Given the description of an element on the screen output the (x, y) to click on. 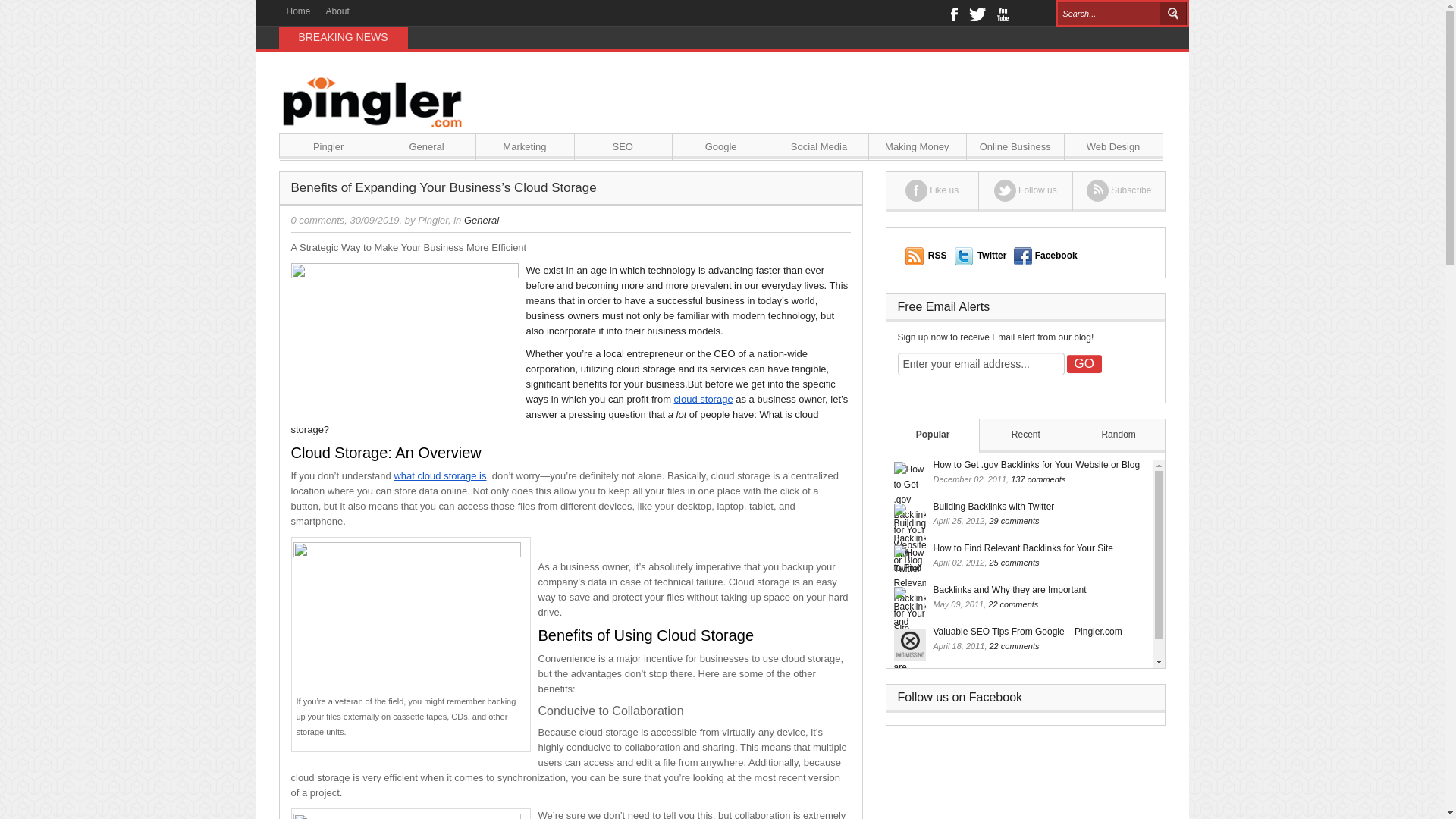
Search (1173, 13)
Google (720, 146)
cloud storage (703, 398)
Web Design (1112, 146)
what cloud storage is (439, 475)
SEO (622, 146)
Pingler (328, 146)
Go (1082, 363)
General (426, 146)
Youtube (1001, 12)
